Given the description of an element on the screen output the (x, y) to click on. 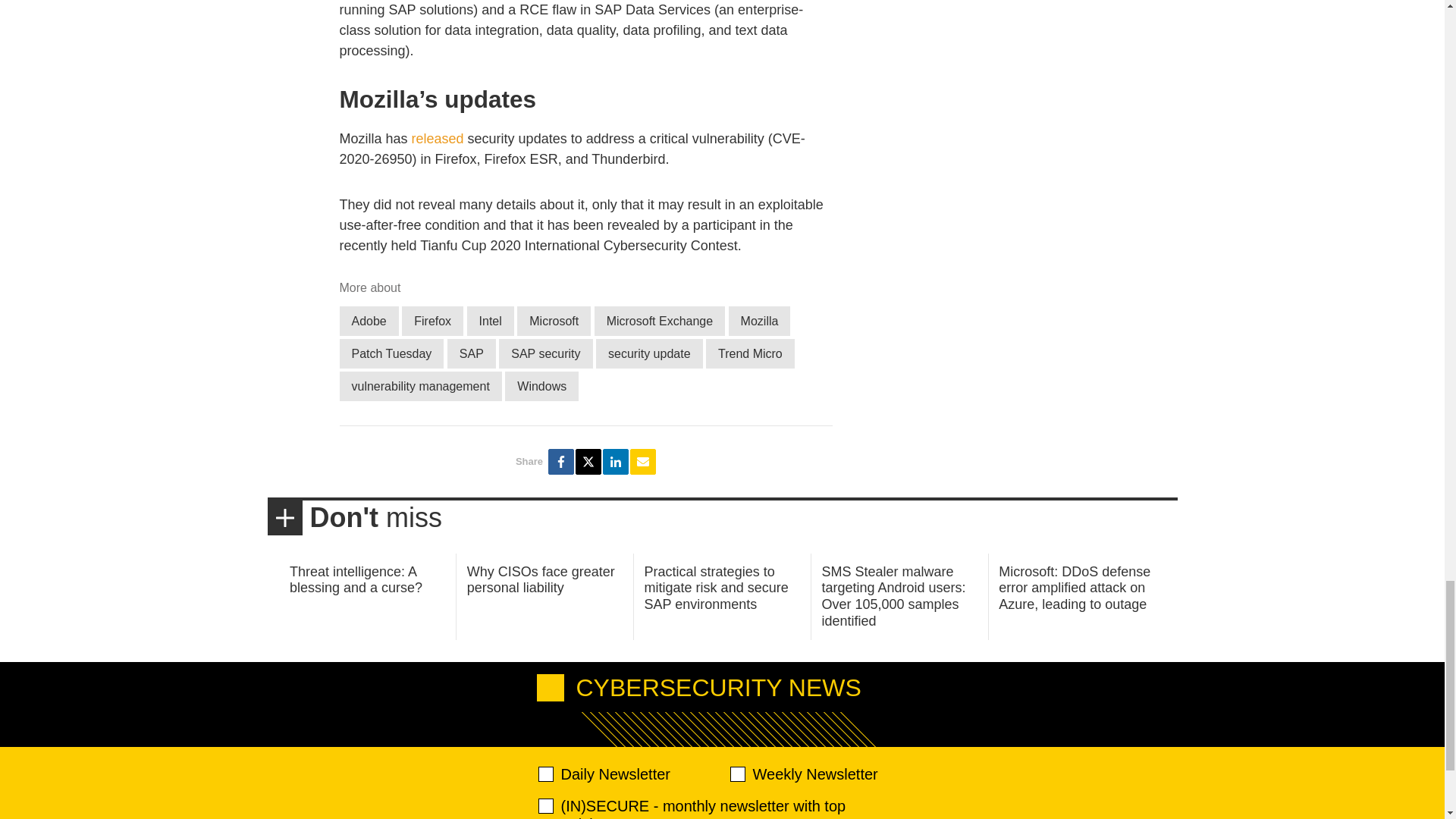
Intel (490, 320)
28abe5d9ef (545, 806)
SAP (471, 353)
Adobe (368, 320)
Microsoft Exchange (659, 320)
Mozilla (759, 320)
d2d471aafa (736, 774)
released (438, 138)
Firefox (432, 320)
Patch Tuesday (391, 353)
Adobe (368, 320)
Firefox (432, 320)
Intel (490, 320)
520ac2f639 (545, 774)
Microsoft (553, 320)
